Given the description of an element on the screen output the (x, y) to click on. 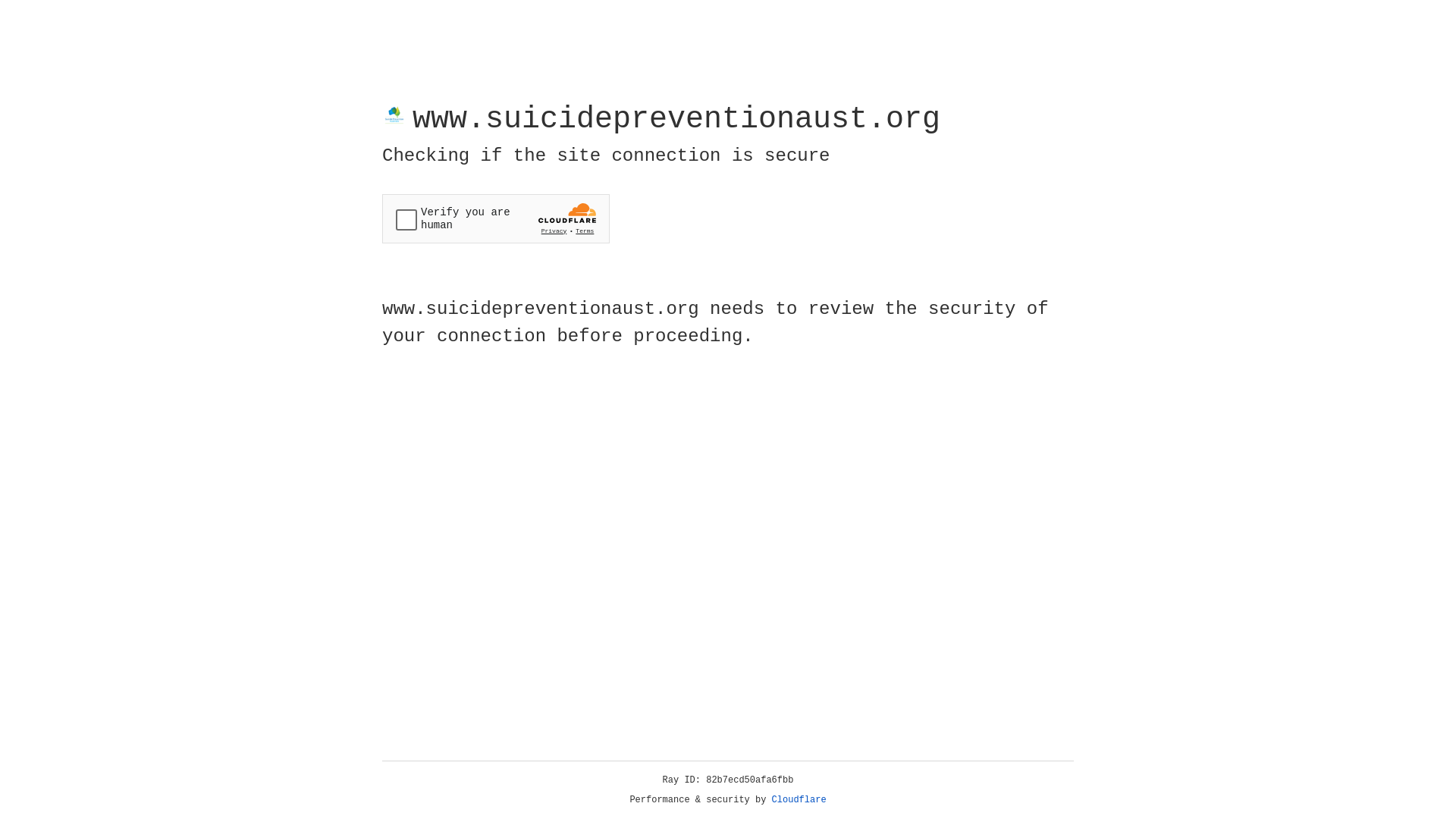
Widget containing a Cloudflare security challenge Element type: hover (495, 218)
Cloudflare Element type: text (798, 799)
